Given the description of an element on the screen output the (x, y) to click on. 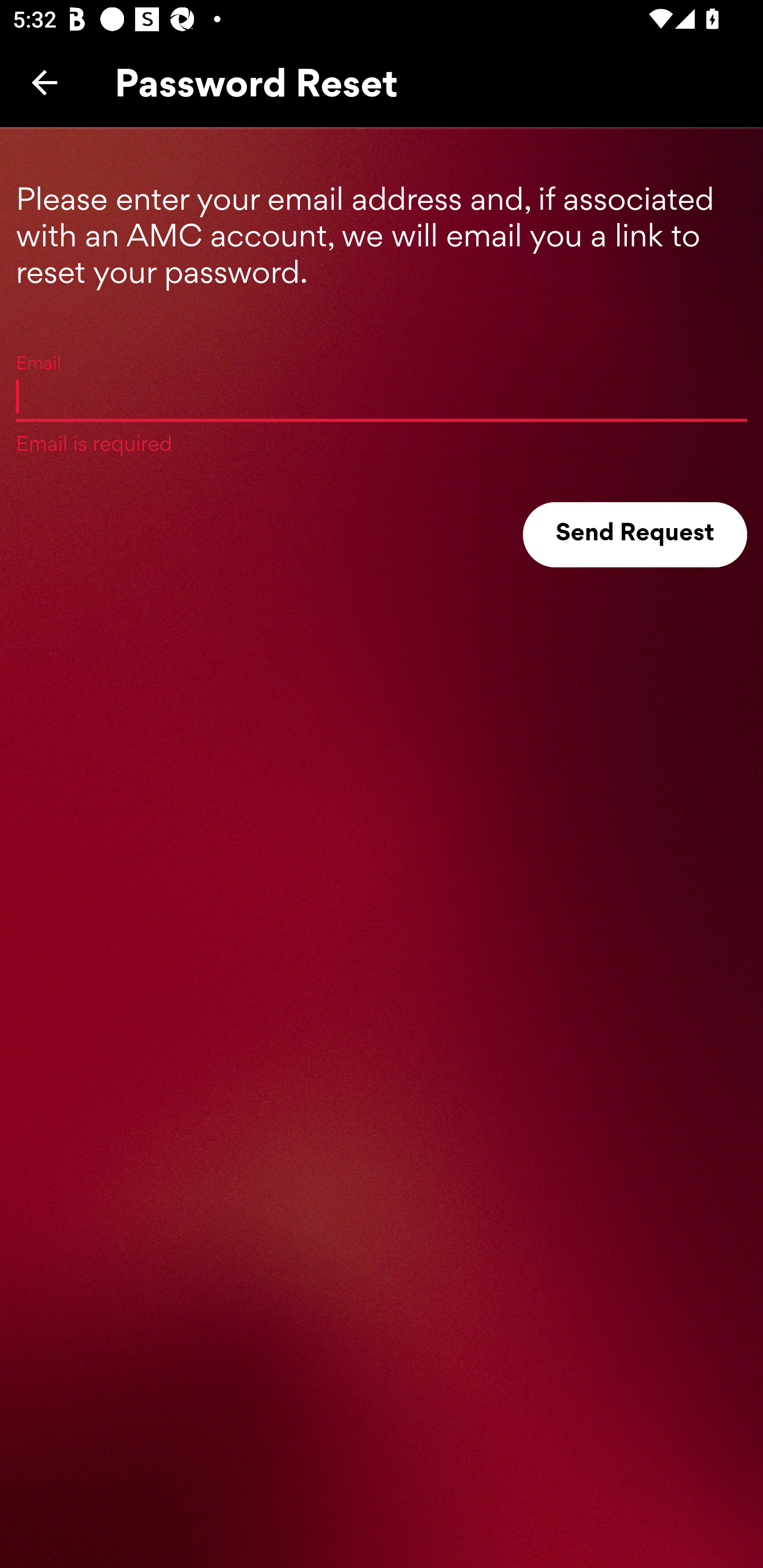
Back (44, 82)
Email is required (381, 394)
Send Request (634, 535)
